Given the description of an element on the screen output the (x, y) to click on. 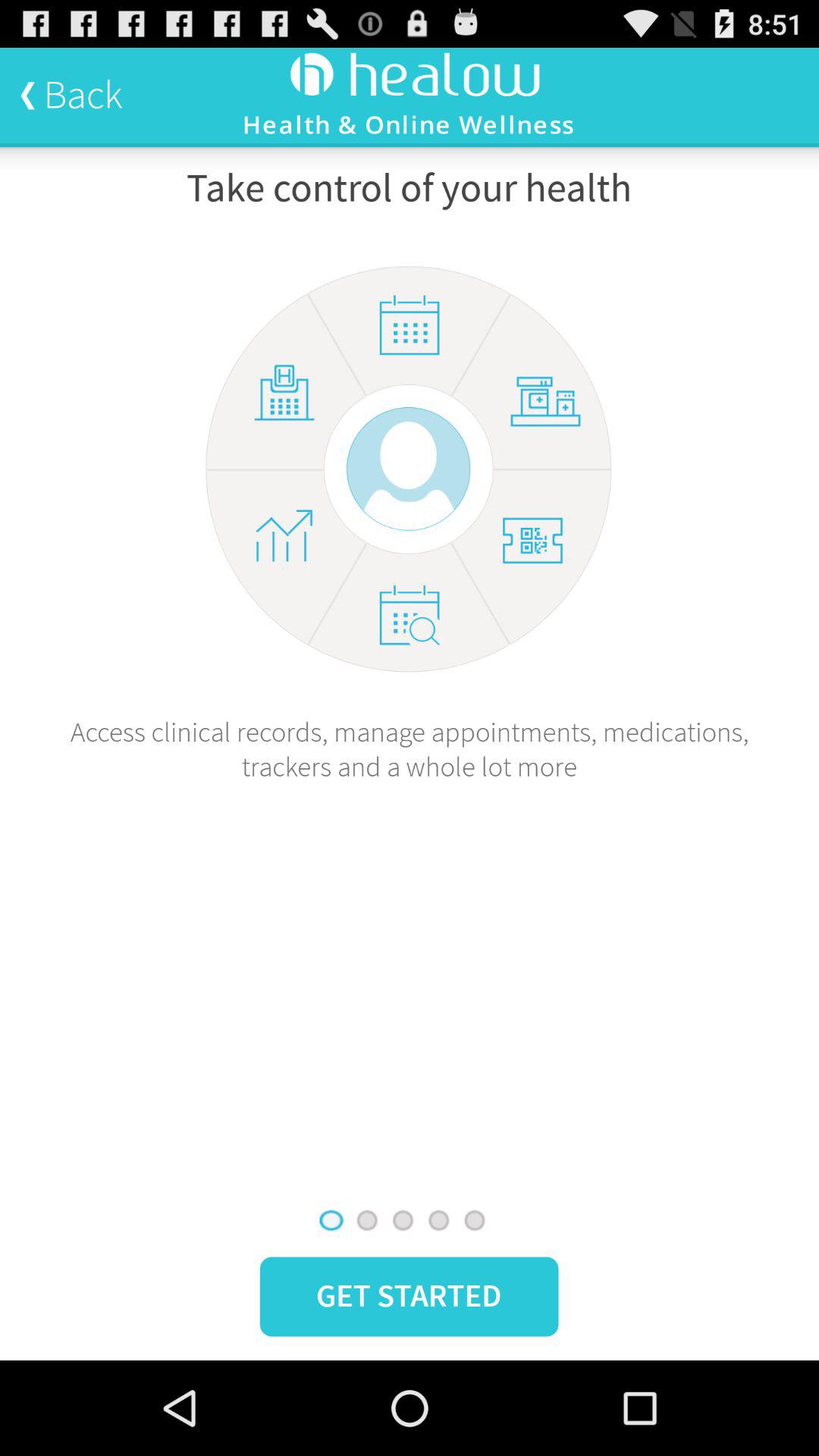
flip until get started icon (408, 1296)
